Given the description of an element on the screen output the (x, y) to click on. 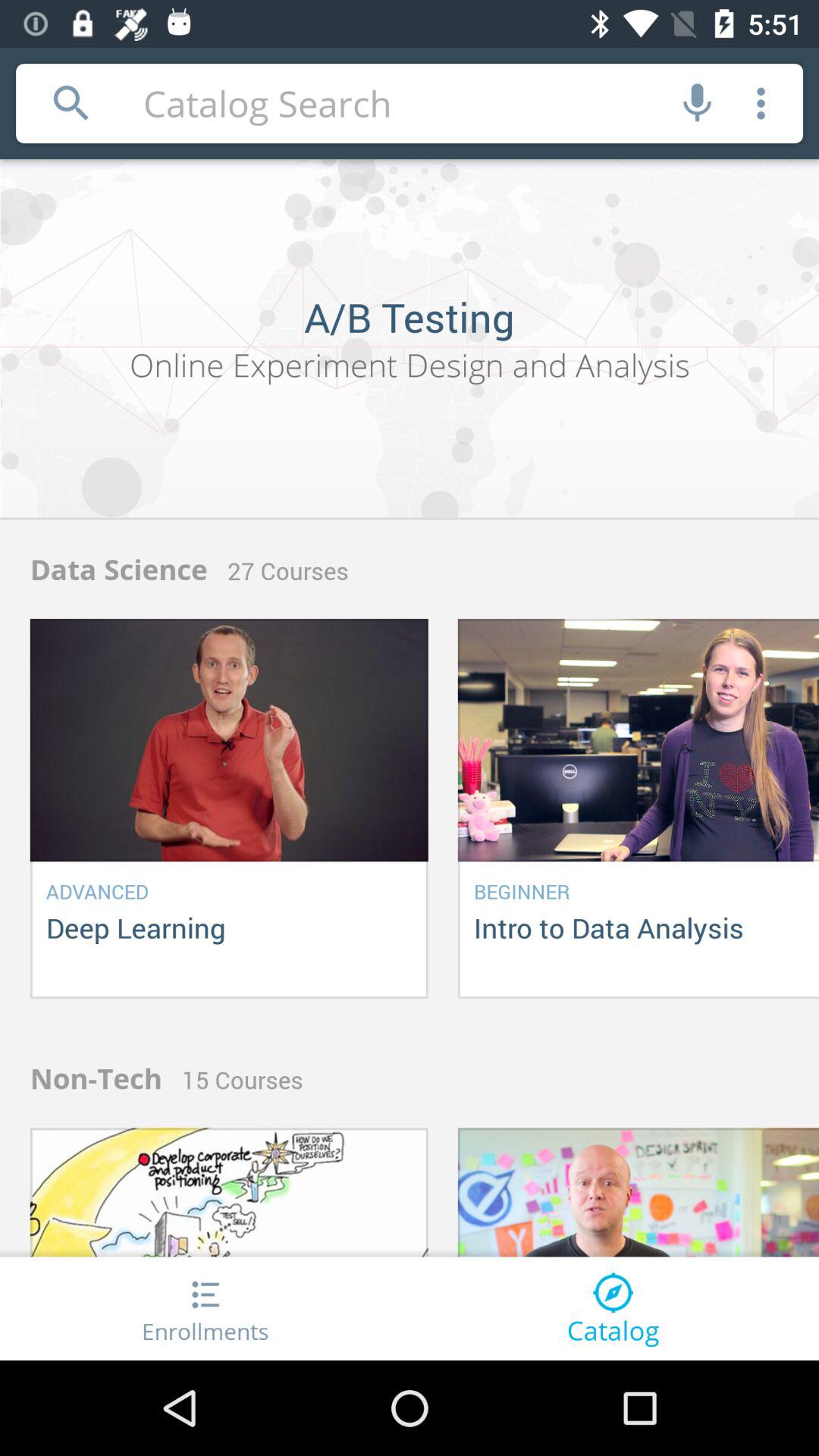
toggle speech to text (697, 103)
